Given the description of an element on the screen output the (x, y) to click on. 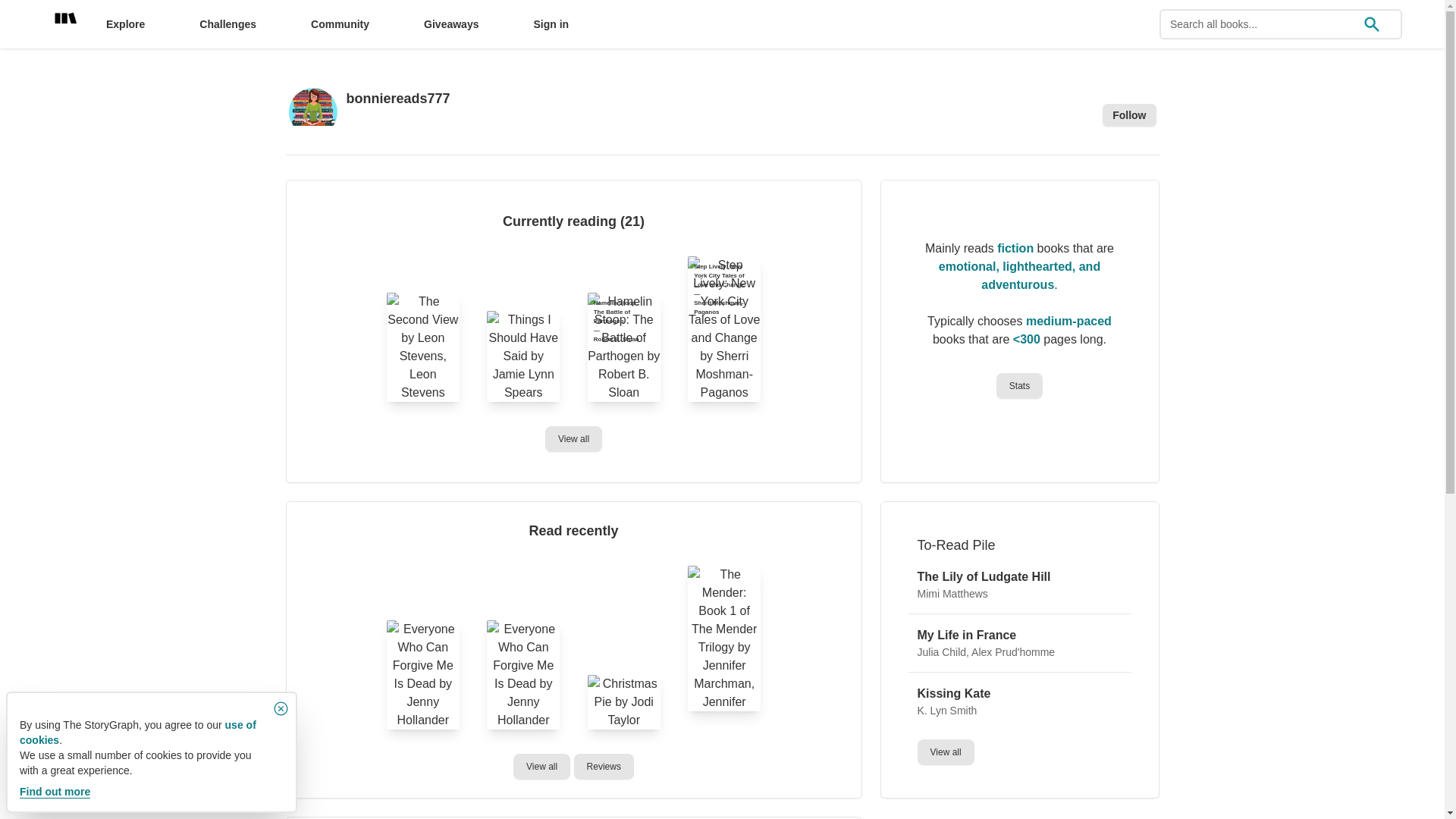
View all (541, 766)
Explore (125, 24)
Stats (1018, 385)
Follow (1129, 115)
View all (573, 437)
View all (941, 750)
Community (339, 24)
My Life in France (966, 634)
View all (543, 765)
Challenges (227, 24)
